Given the description of an element on the screen output the (x, y) to click on. 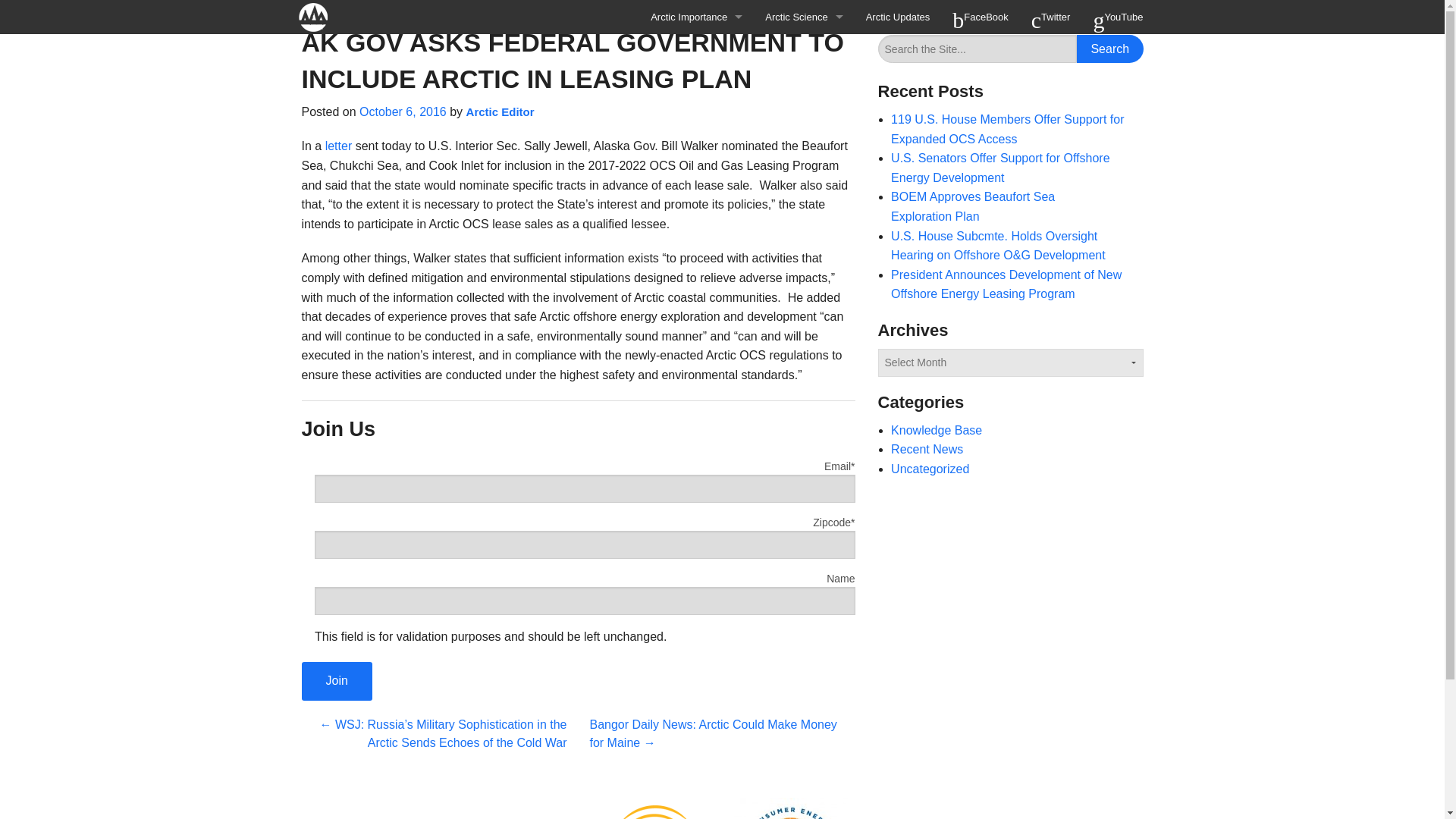
Traditional Knowledge (803, 50)
Published (402, 111)
U.S. Senators Offer Support for Offshore Energy Development (1000, 167)
BOEM Approves Beaufort Sea Exploration Plan (972, 206)
Geopolitics (696, 119)
Twitter (1050, 17)
Uncategorized (930, 468)
Arctic Updates (898, 17)
Knowledge Base (936, 430)
Author (490, 111)
